Given the description of an element on the screen output the (x, y) to click on. 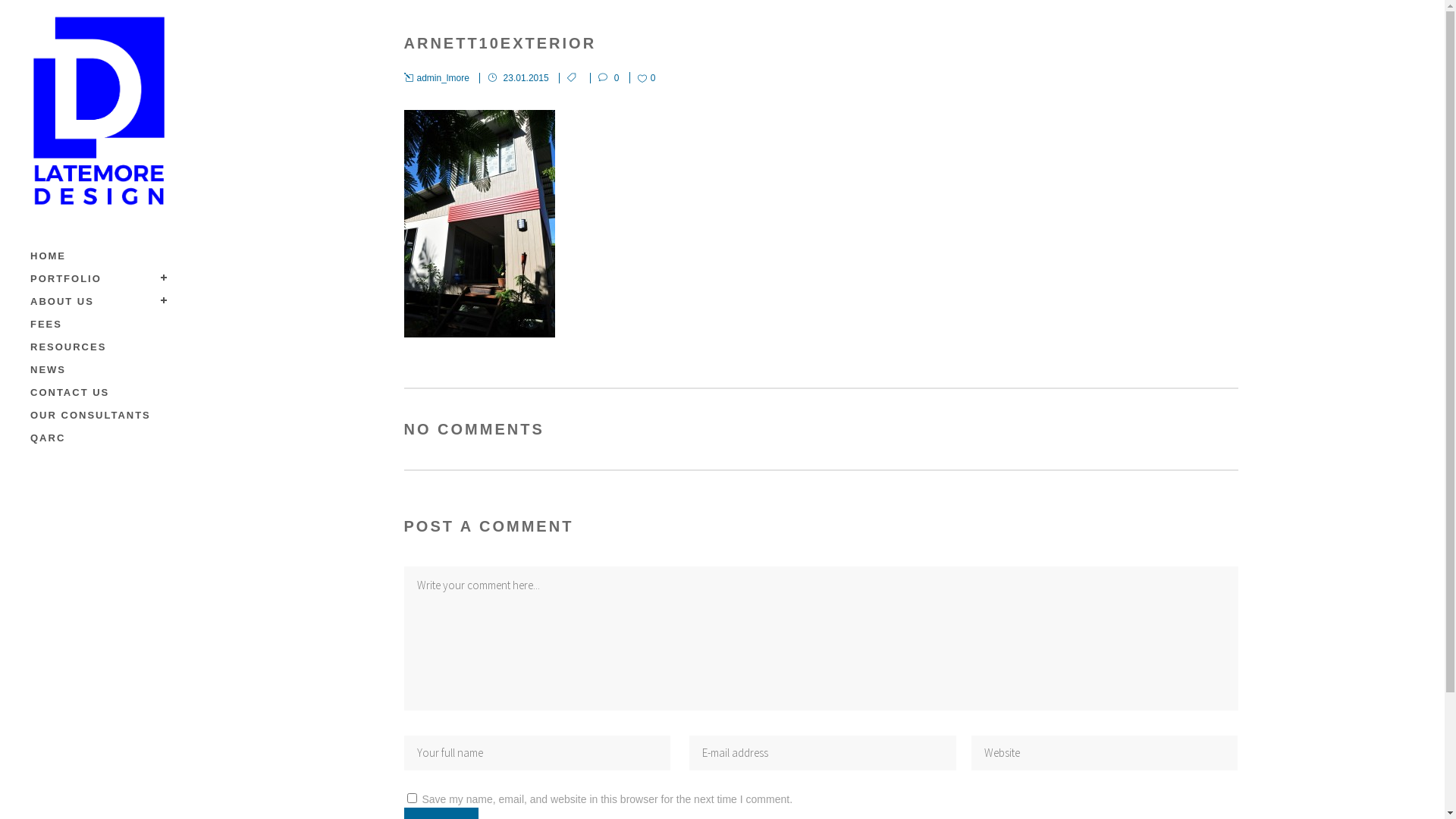
QARC Element type: text (98, 437)
0 Element type: text (603, 77)
HOME Element type: text (98, 255)
NEWS Element type: text (98, 369)
FEES Element type: text (98, 324)
OUR CONSULTANTS Element type: text (98, 415)
RESOURCES Element type: text (98, 346)
Portfolio Element type: text (765, 805)
Contact Us and Say Hello Element type: text (971, 805)
ABOUT US Element type: text (98, 301)
0 Element type: text (646, 77)
PORTFOLIO Element type: text (98, 278)
Testimonials Element type: text (848, 805)
CONTACT US Element type: text (98, 392)
About Us Element type: text (692, 805)
admin_lmore Element type: text (435, 77)
